Given the description of an element on the screen output the (x, y) to click on. 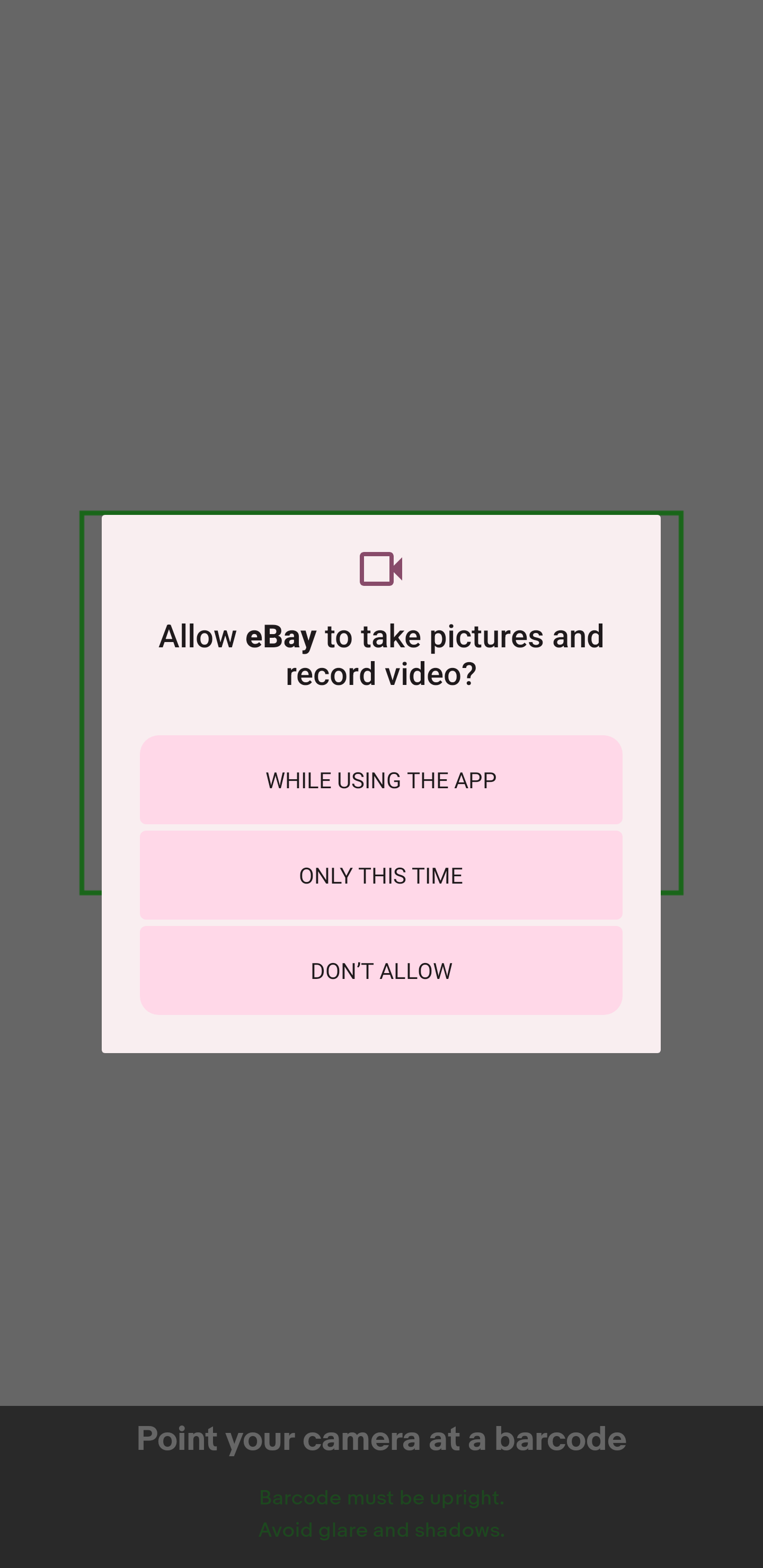
WHILE USING THE APP (380, 779)
ONLY THIS TIME (380, 874)
DON’T ALLOW (380, 970)
